Given the description of an element on the screen output the (x, y) to click on. 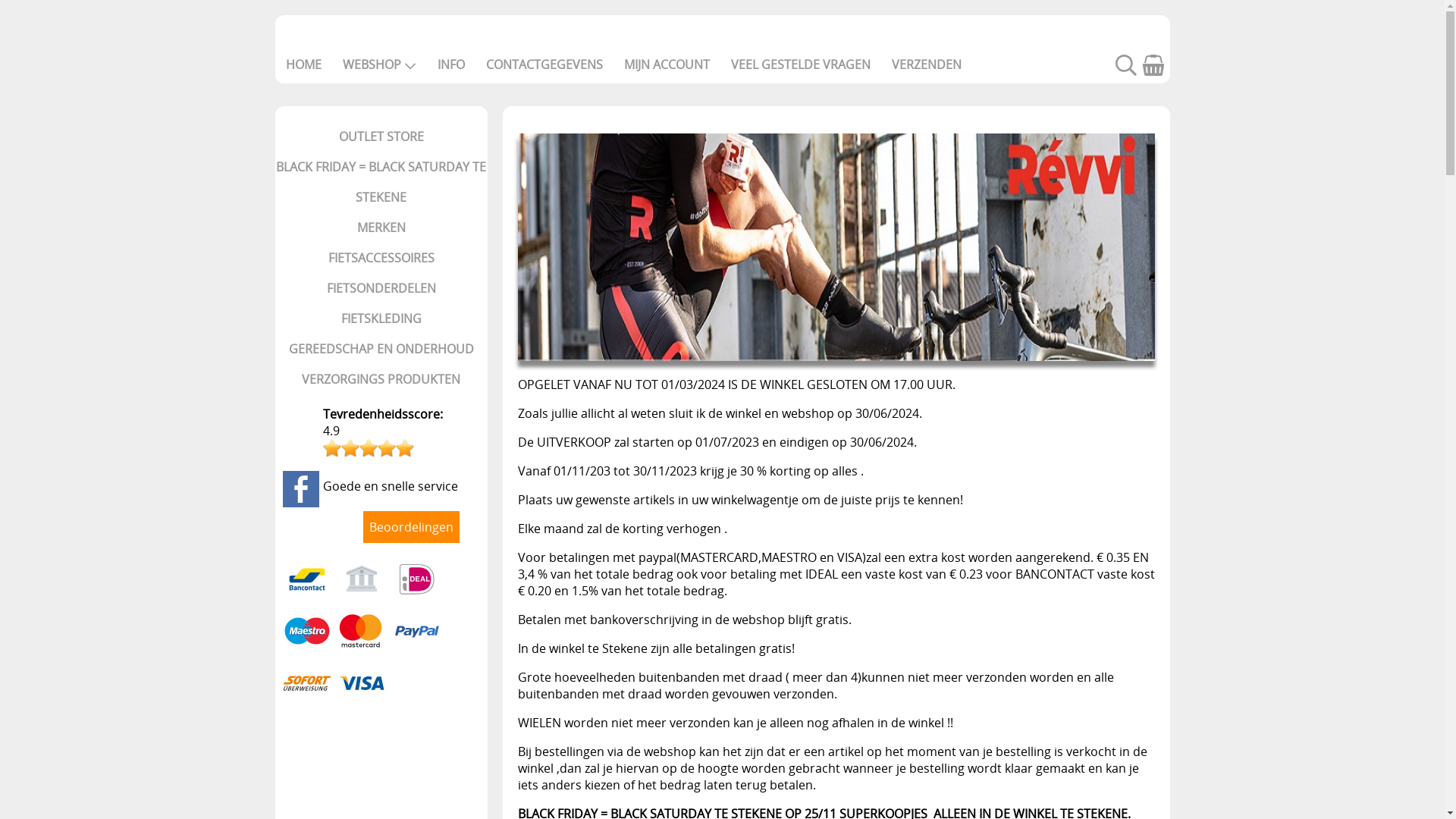
HOME Element type: text (302, 64)
OUTLET STORE Element type: text (380, 136)
VEEL GESTELDE VRAGEN Element type: text (800, 64)
WEBSHOP Element type: text (379, 64)
Beoordelingen Element type: text (410, 526)
FIETSONDERDELEN Element type: text (380, 288)
Zoeken Element type: text (1124, 70)
FIETSKLEDING Element type: text (380, 318)
BLACK FRIDAY = BLACK SATURDAY TE STEKENE Element type: text (380, 181)
VERZORGINGS PRODUKTEN Element type: text (380, 379)
MIJN ACCOUNT Element type: text (665, 64)
CONTACTGEGEVENS Element type: text (543, 64)
GEREEDSCHAP EN ONDERHOUD Element type: text (380, 348)
INFO Element type: text (450, 64)
MERKEN Element type: text (380, 227)
VERZENDEN Element type: text (926, 64)
FIETSACCESSOIRES Element type: text (380, 257)
